Given the description of an element on the screen output the (x, y) to click on. 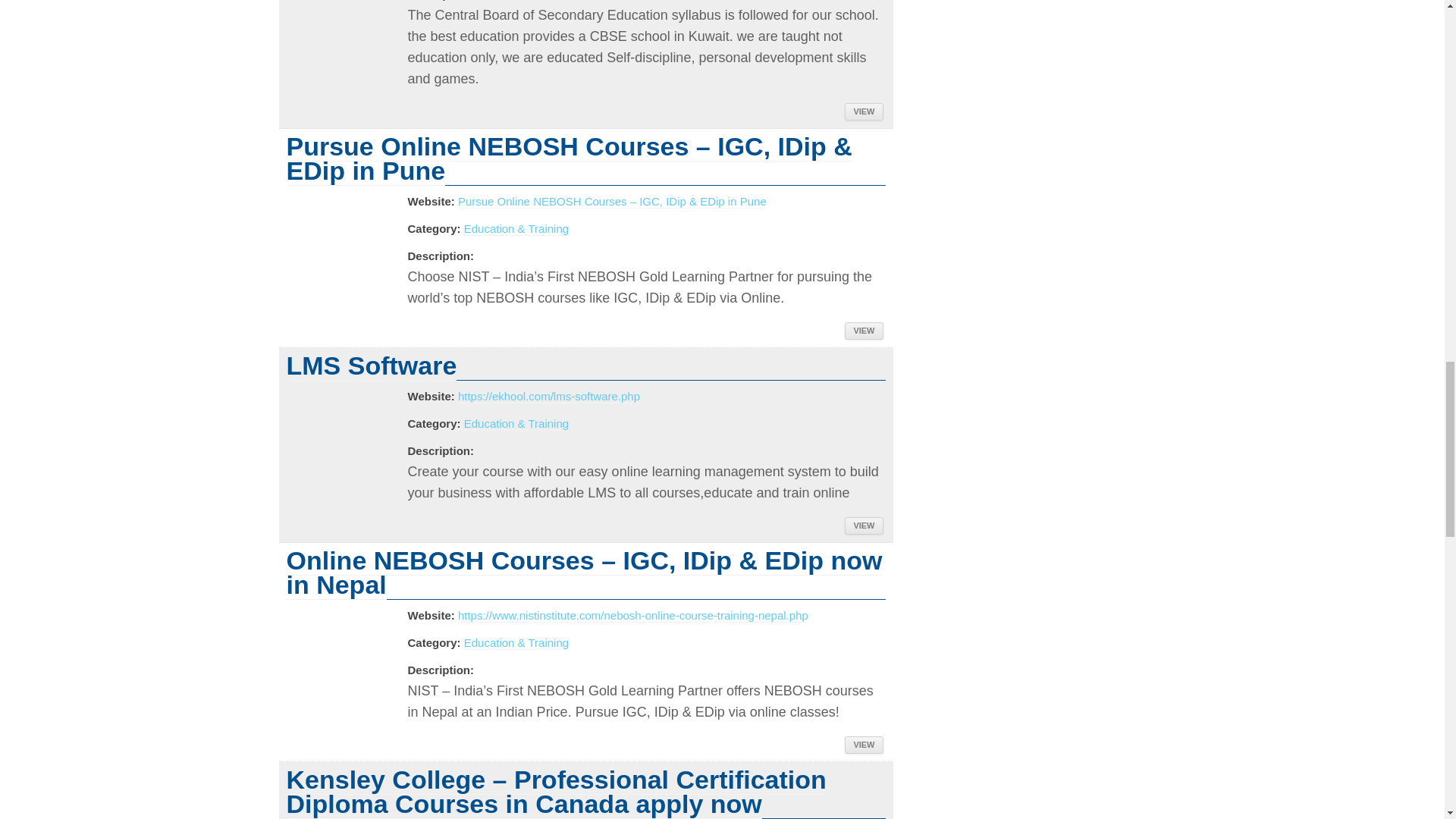
LMS Software (371, 365)
VIEW (863, 330)
VIEW (863, 111)
VIEW (863, 525)
VIEW (863, 744)
